Given the description of an element on the screen output the (x, y) to click on. 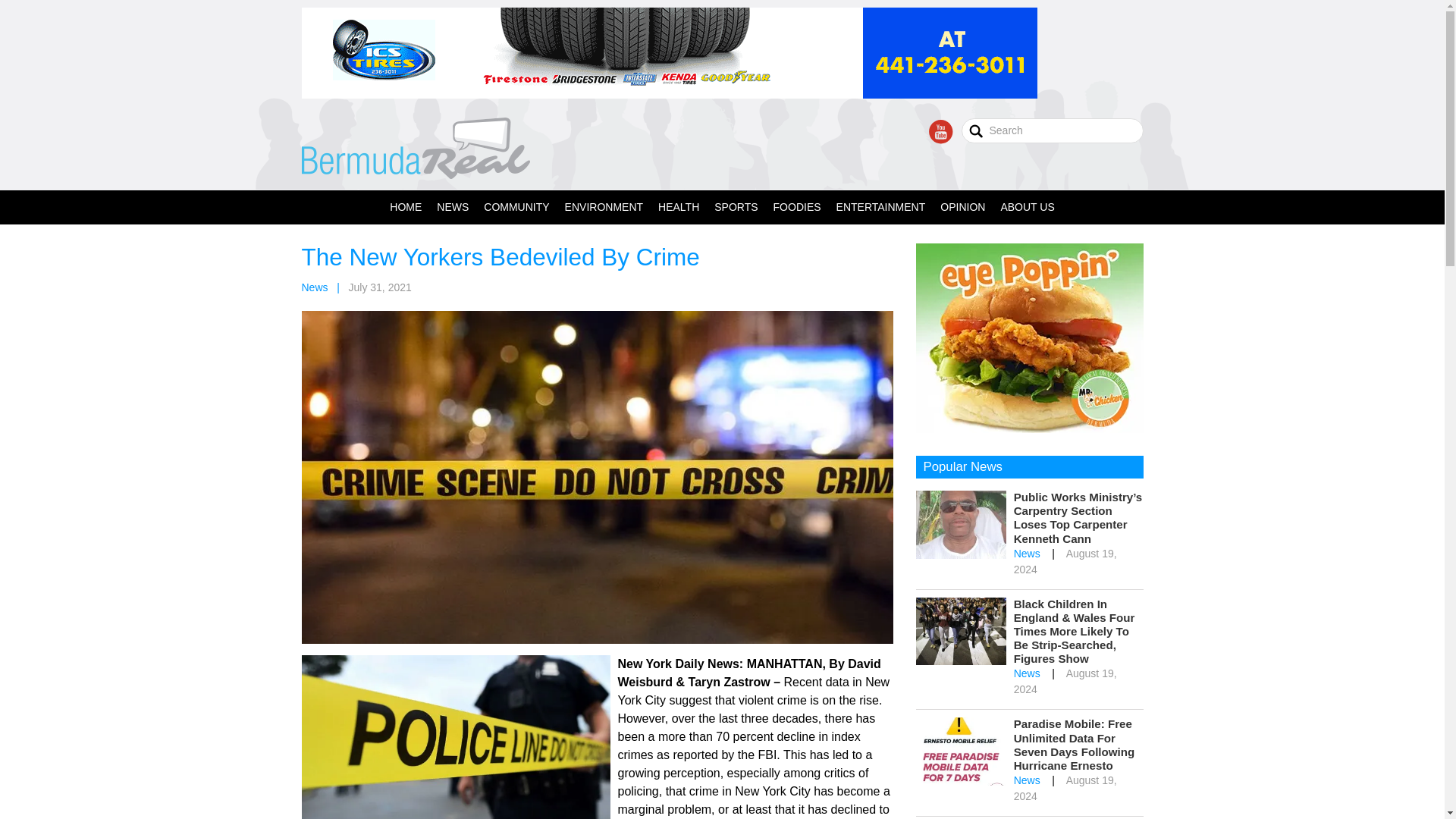
SPORTS (735, 207)
FOODIES (796, 207)
NEWS (452, 207)
Search for: (1051, 130)
HOME (405, 207)
ENTERTAINMENT (880, 207)
OPINION (962, 207)
ABOUT US (1026, 207)
ENVIRONMENT (603, 207)
News (315, 287)
